Given the description of an element on the screen output the (x, y) to click on. 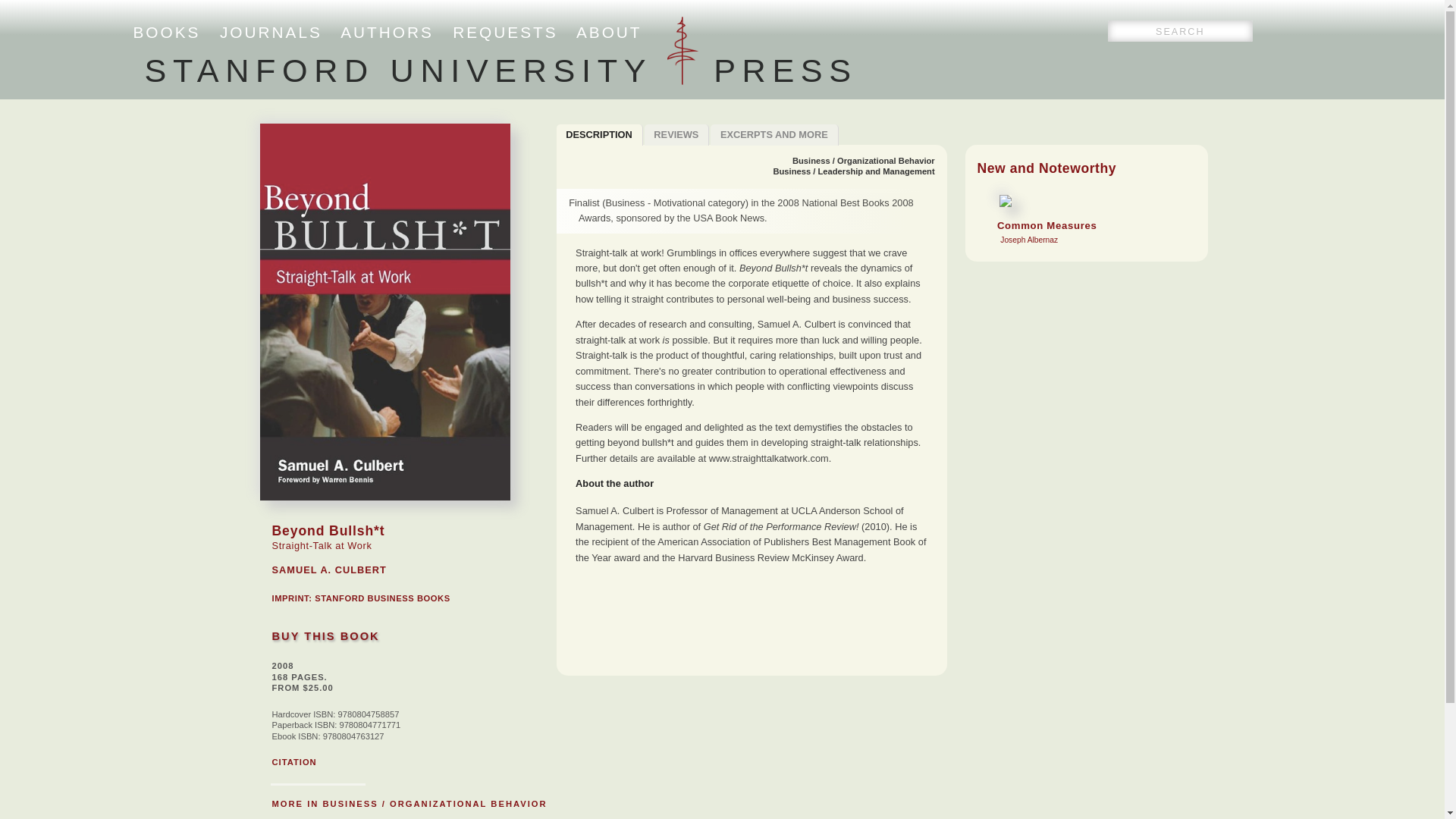
BOOKS (166, 31)
JOURNALS (270, 31)
AUTHORS (386, 31)
STANFORD BUSINESS BOOKS (381, 597)
REQUESTS (504, 31)
ABOUT (609, 31)
BUY THIS BOOK (324, 635)
DESCRIPTION (599, 134)
CITATION (292, 761)
REVIEWS (677, 134)
